Given the description of an element on the screen output the (x, y) to click on. 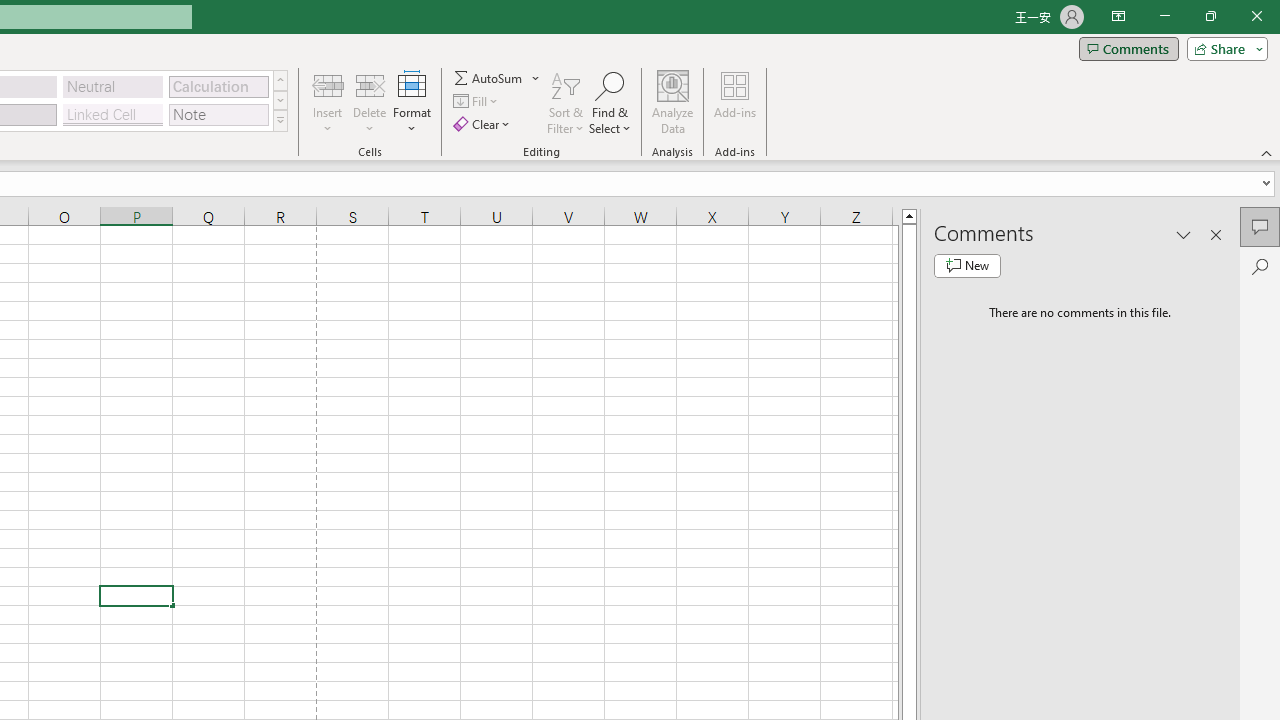
Note (218, 114)
Class: NetUIImage (280, 120)
Sort & Filter (566, 102)
Find & Select (610, 102)
Clear (483, 124)
Analyze Data (673, 102)
Linked Cell (113, 114)
Format (411, 102)
Sum (489, 78)
Row up (280, 79)
AutoSum (497, 78)
Cell Styles (280, 120)
Comments (1260, 226)
Close pane (1215, 234)
More Options (536, 78)
